Given the description of an element on the screen output the (x, y) to click on. 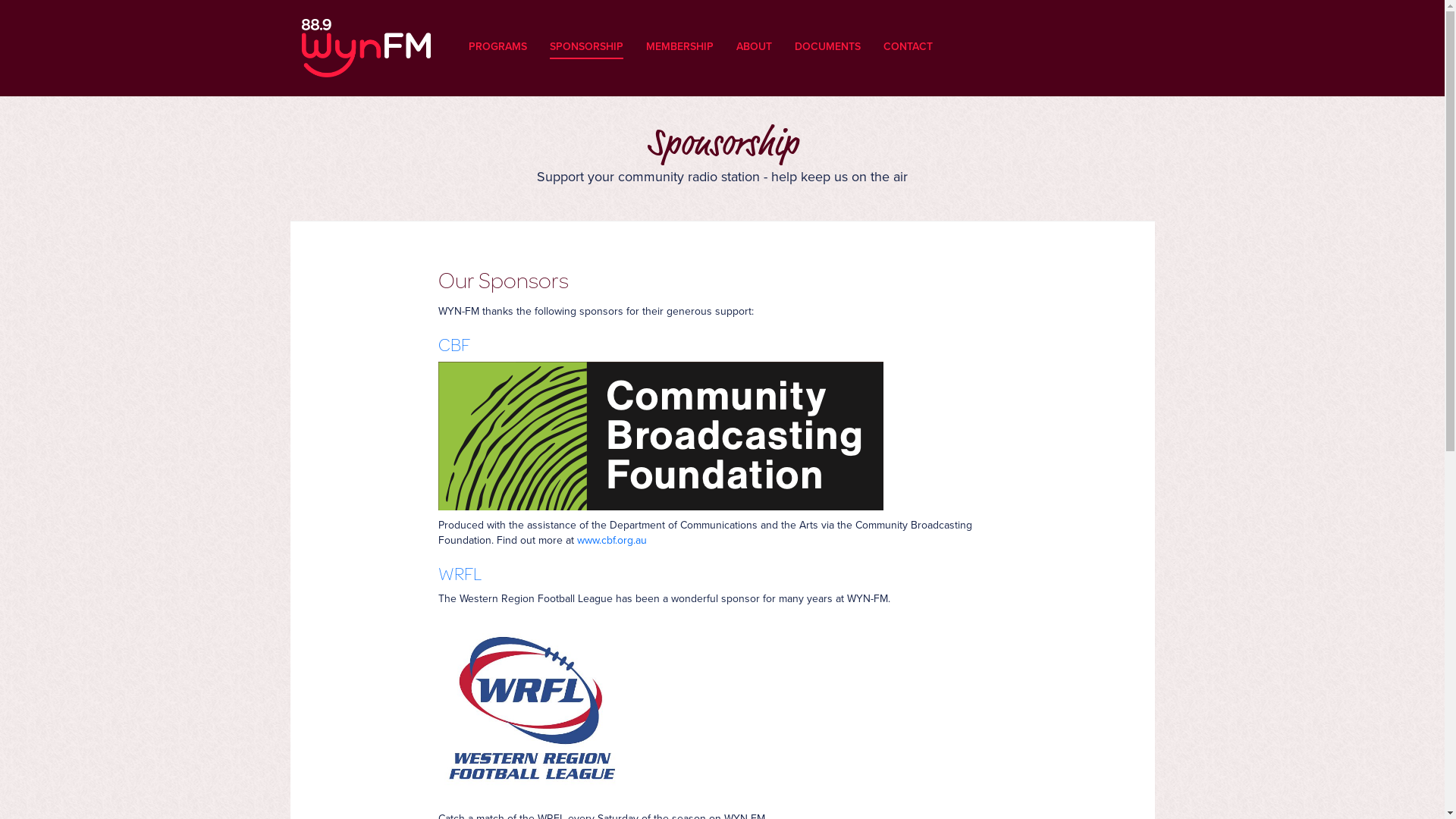
CONTACT Element type: text (906, 32)
ABOUT Element type: text (753, 32)
www.cbf.org.au Element type: text (611, 539)
WRFL Element type: text (460, 573)
MEMBERSHIP Element type: text (679, 32)
PROGRAMS Element type: text (497, 32)
SPONSORSHIP Element type: text (585, 33)
DOCUMENTS Element type: text (827, 32)
CBF Element type: text (454, 344)
